Given the description of an element on the screen output the (x, y) to click on. 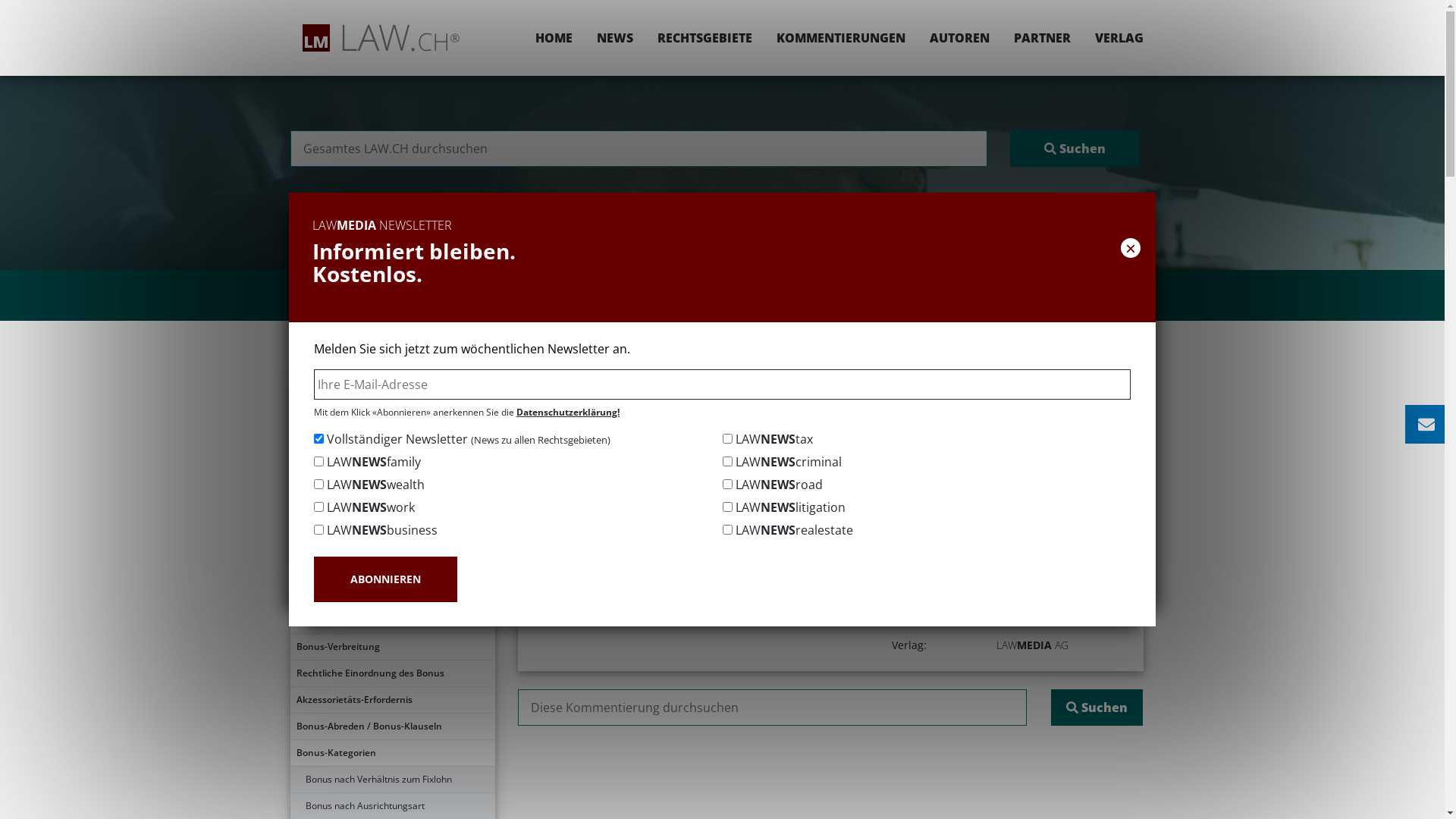
Grundlage Element type: text (391, 460)
 DRUCKEN / PDF Element type: text (1095, 426)
Bonus-Begriff Element type: text (391, 434)
KOMMENTIERUNGEN Element type: text (840, 37)
Suchen nach: Element type: hover (637, 148)
Bonus-Verbreitung Element type: text (391, 646)
Rechtsnatur Element type: text (391, 514)
Rechtliche Einordnung des Bonus Element type: text (391, 673)
PARTNER Element type: text (1041, 37)
Bonus-Kategorien Element type: text (391, 752)
Bonus-Abreden / Bonus-Klauseln Element type: text (391, 726)
Ziele Element type: text (391, 540)
VERLAG Element type: text (1112, 37)
Bonus-Arten Element type: text (391, 620)
 TEILEN Element type: text (989, 426)
Motive Element type: text (391, 567)
AUTOREN Element type: text (959, 37)
Abgrenzungen Element type: text (391, 487)
ABONNIEREN Element type: text (385, 579)
Home Element type: text (628, 375)
Rechtsgebiete Element type: text (697, 375)
Suchen nach: Element type: hover (771, 707)
Inhaltsverzeichnis Element type: text (391, 407)
HOME Element type: text (553, 37)
RECHTSGEBIETE Element type: text (703, 37)
Bonus-Kultur Element type: text (391, 593)
Einleitung zu Bonus und Gratifikation Element type: text (391, 381)
NEWS Element type: text (613, 37)
